Given the description of an element on the screen output the (x, y) to click on. 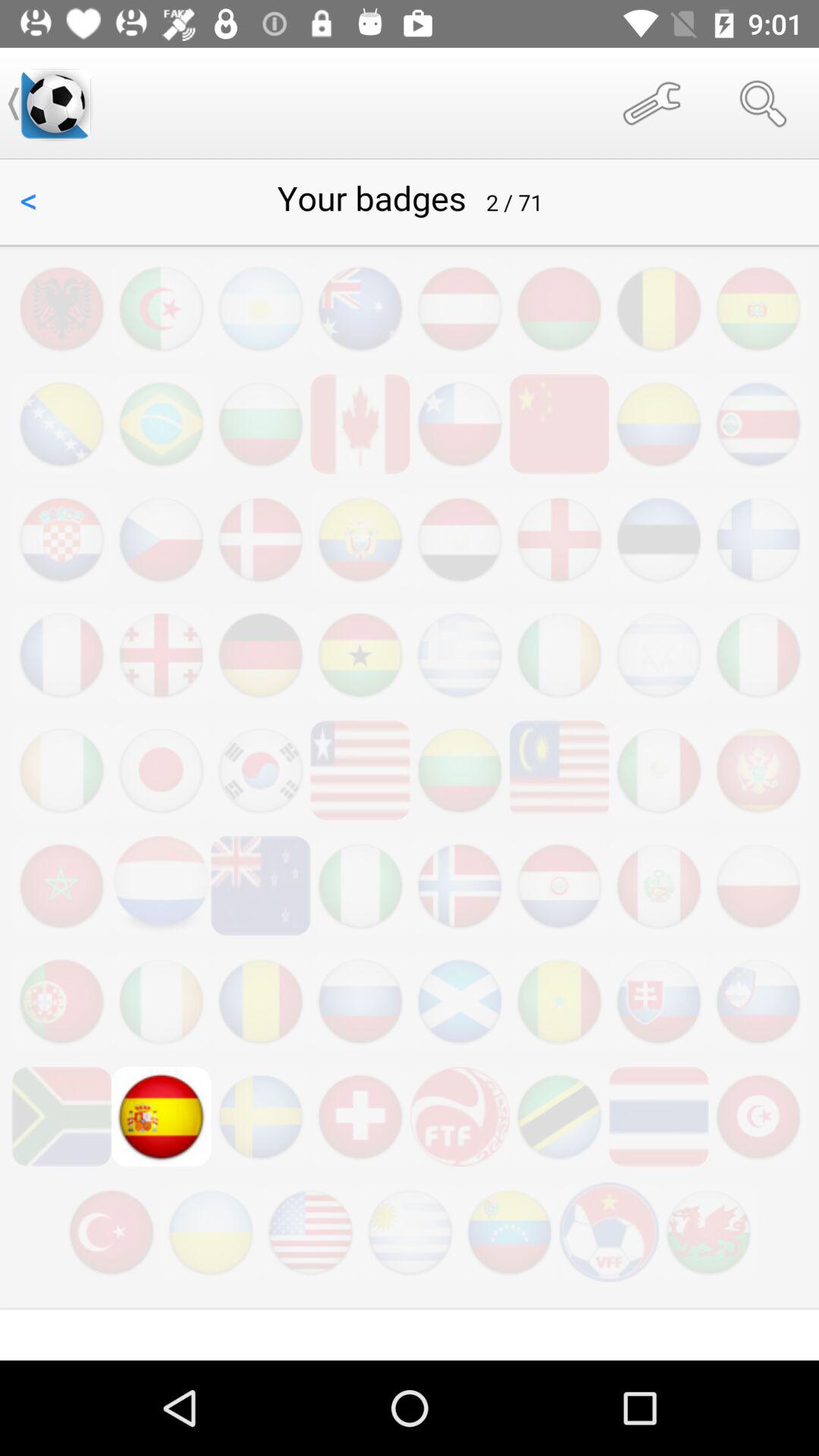
select badge (409, 759)
